Given the description of an element on the screen output the (x, y) to click on. 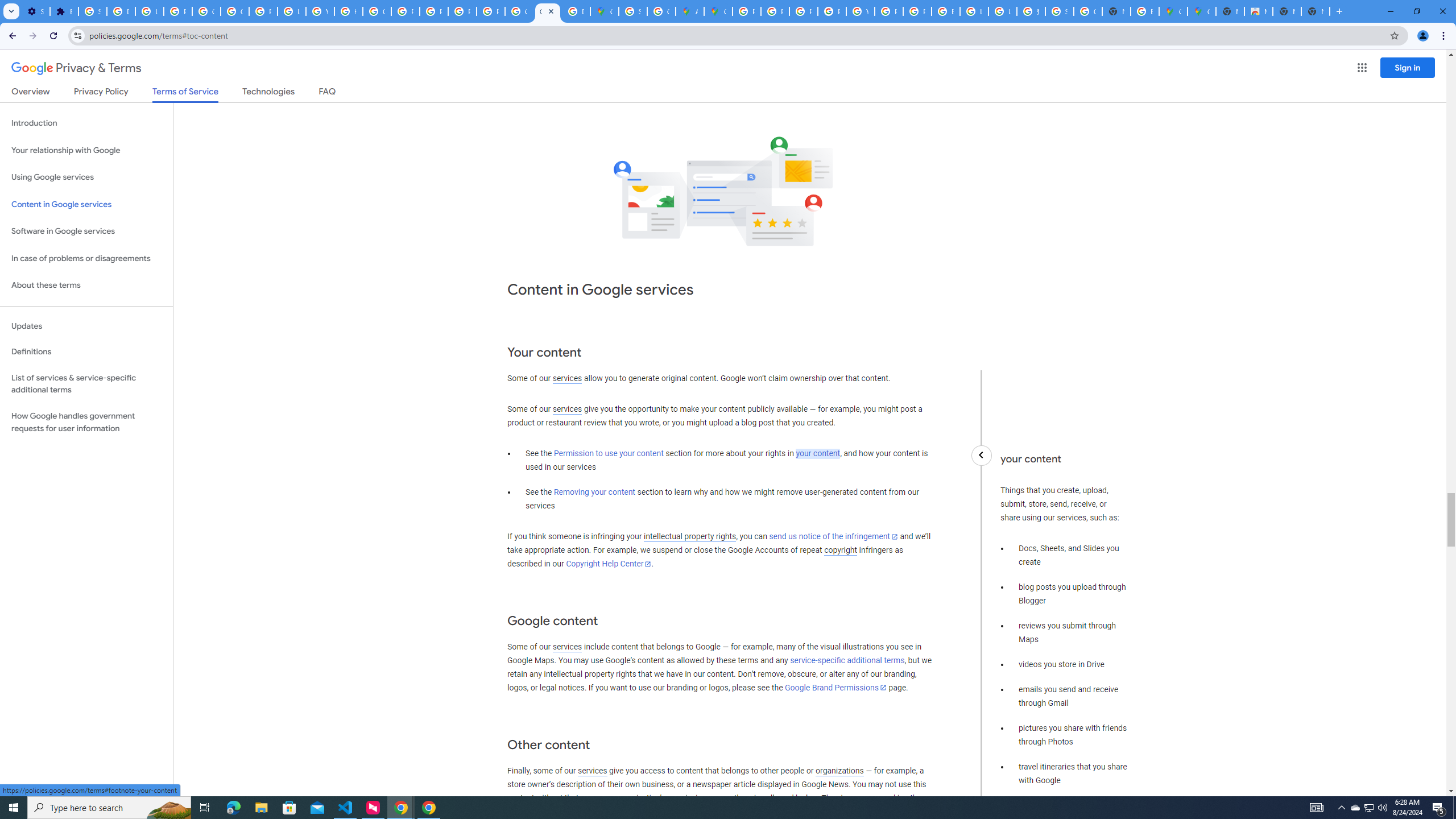
About these terms (86, 284)
In case of problems or disagreements (86, 258)
Definitions (86, 352)
Using Google services (86, 176)
Explore new street-level details - Google Maps Help (1144, 11)
copyright (840, 550)
